Given the description of an element on the screen output the (x, y) to click on. 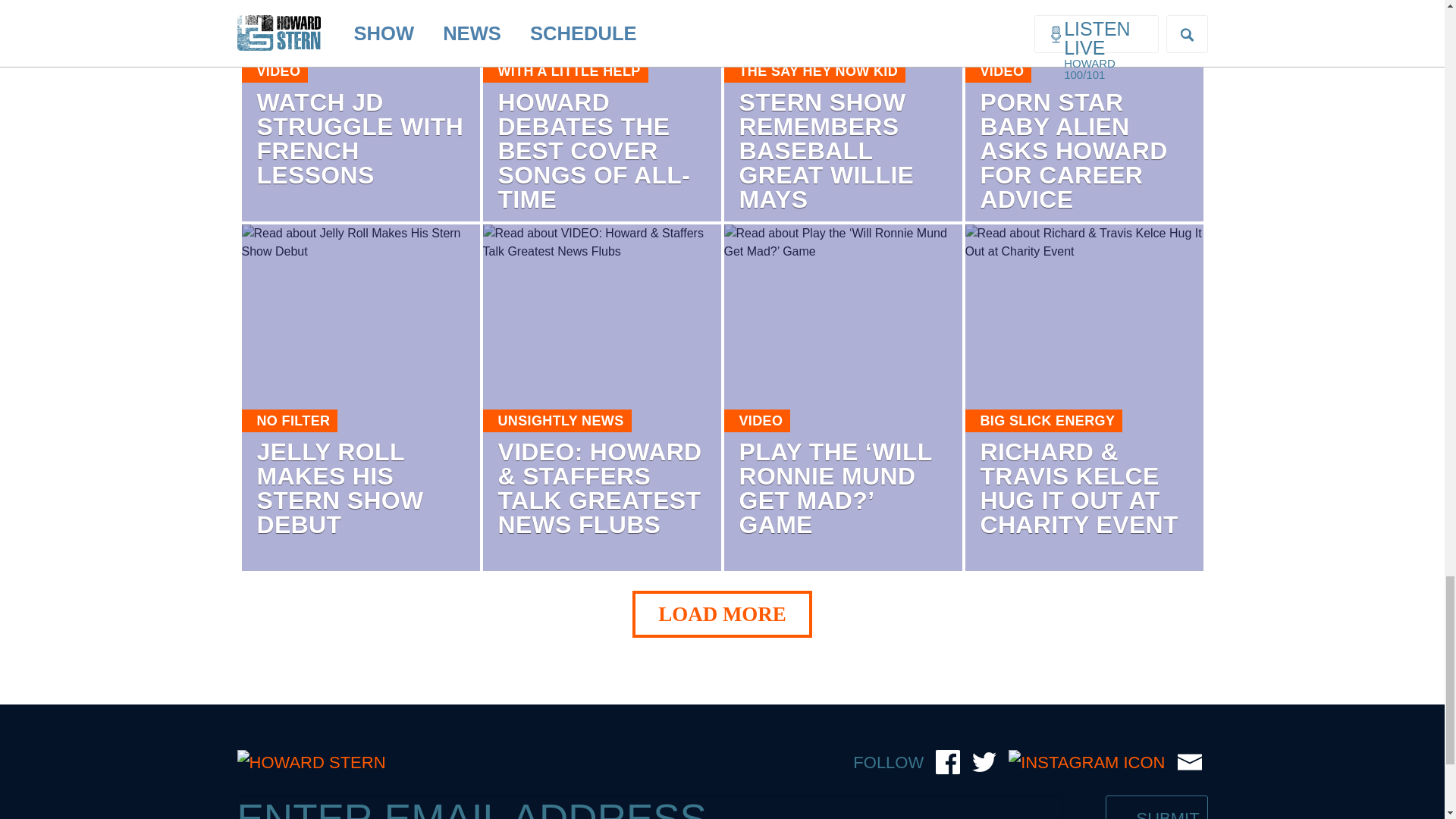
WATCH JD STRUGGLE WITH FRENCH LESSONS (359, 138)
